Given the description of an element on the screen output the (x, y) to click on. 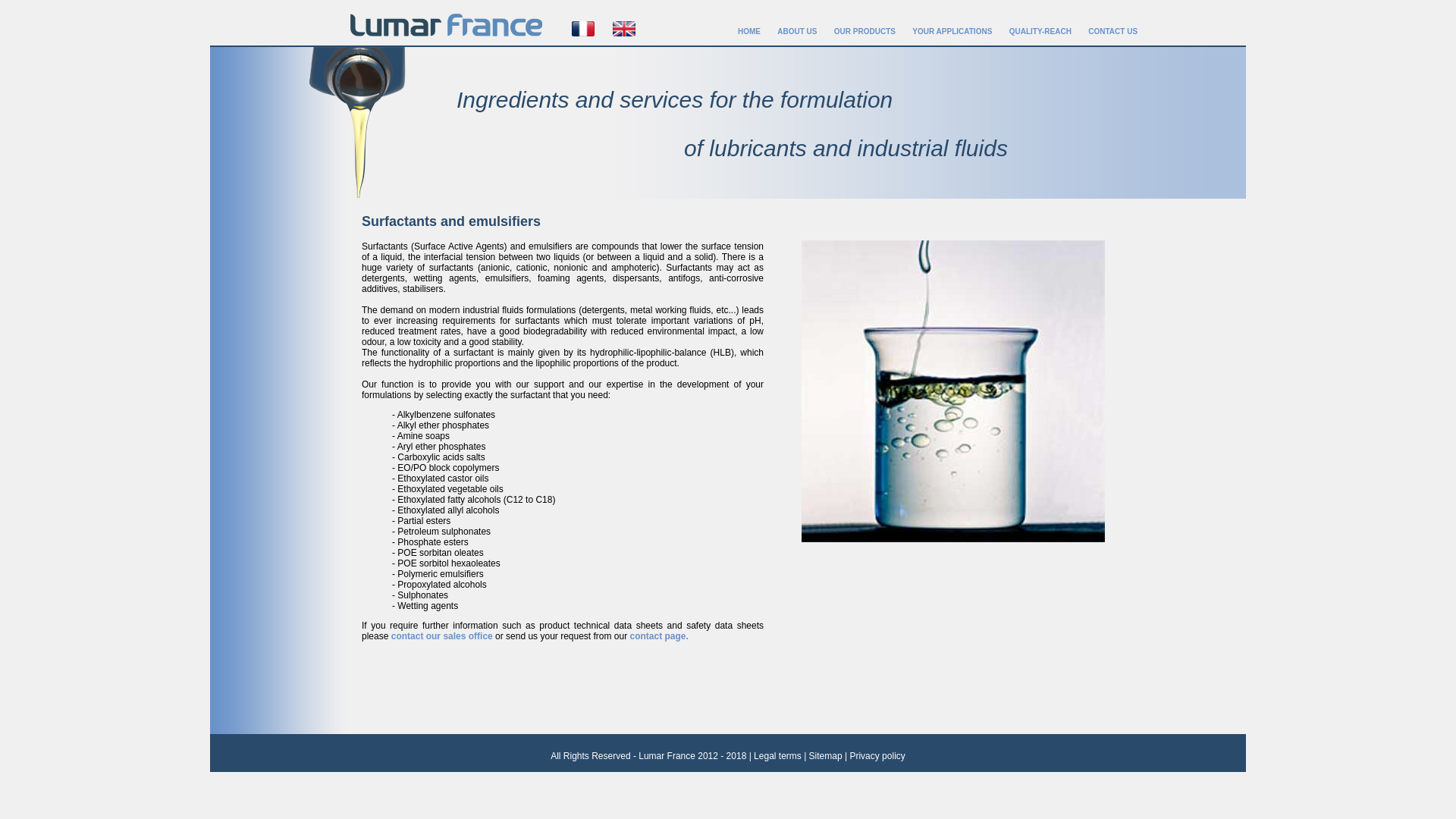
contact page. (657, 635)
contact our sales office (442, 635)
Legal terms (778, 756)
Sitemap (826, 756)
ABOUT US (797, 34)
OUR PRODUCTS (864, 34)
YOUR APPLICATIONS (951, 34)
Privacy policy (876, 756)
HOME (749, 34)
